Given the description of an element on the screen output the (x, y) to click on. 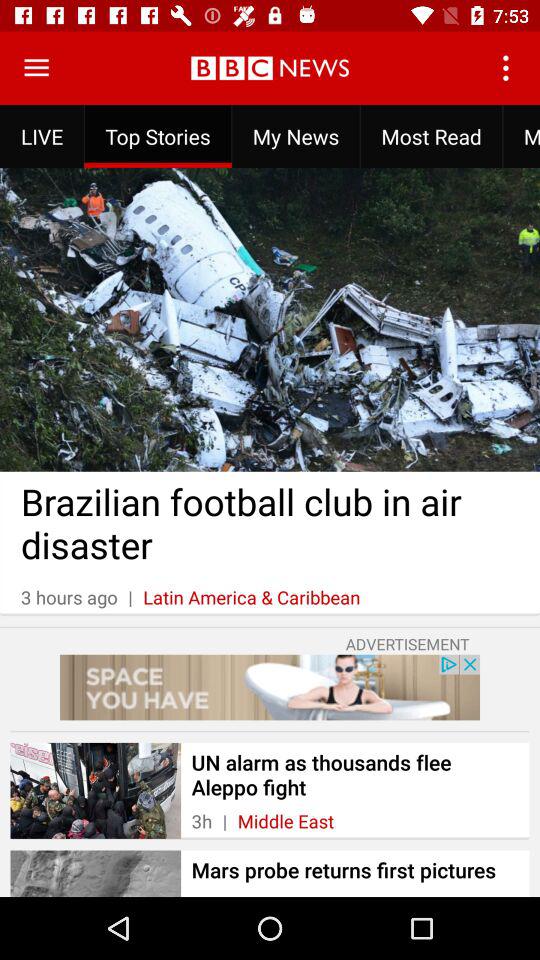
visit advertiser website (270, 687)
